Given the description of an element on the screen output the (x, y) to click on. 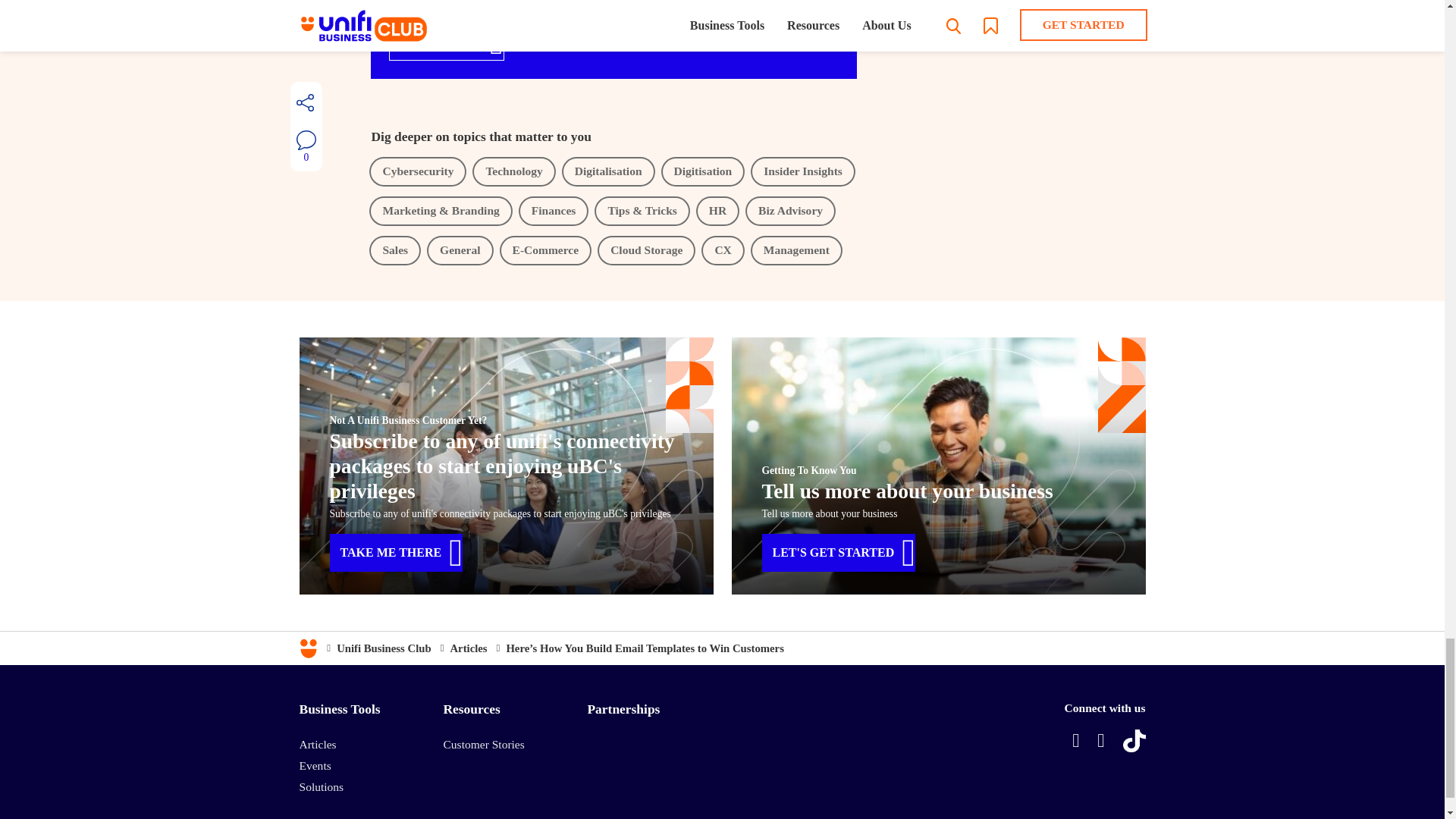
Technology (513, 171)
SIGN UP NOW (445, 40)
Digitalisation (608, 171)
Cybersecurity (417, 171)
